Given the description of an element on the screen output the (x, y) to click on. 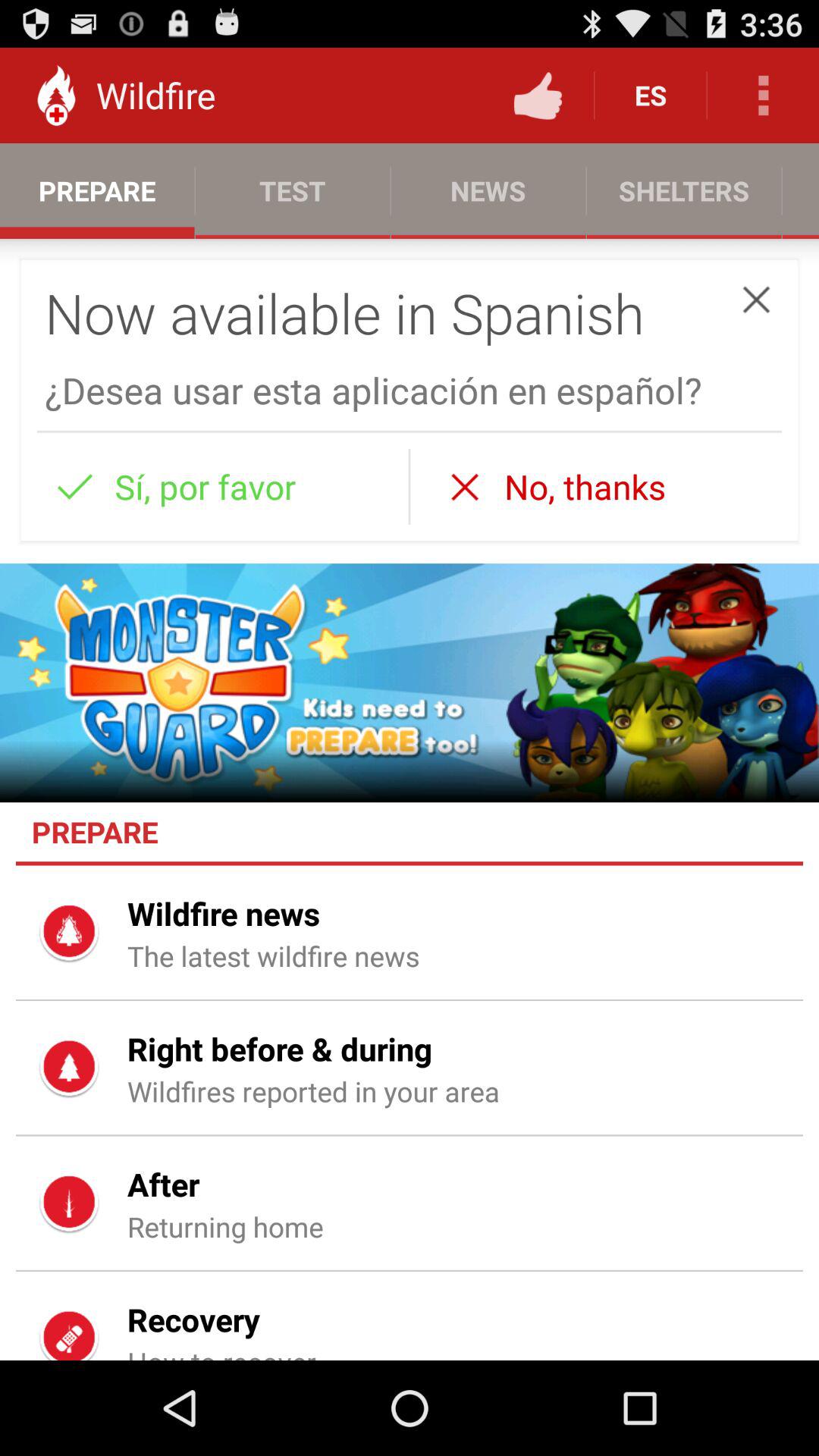
launch the item above desea usar esta icon (755, 299)
